Given the description of an element on the screen output the (x, y) to click on. 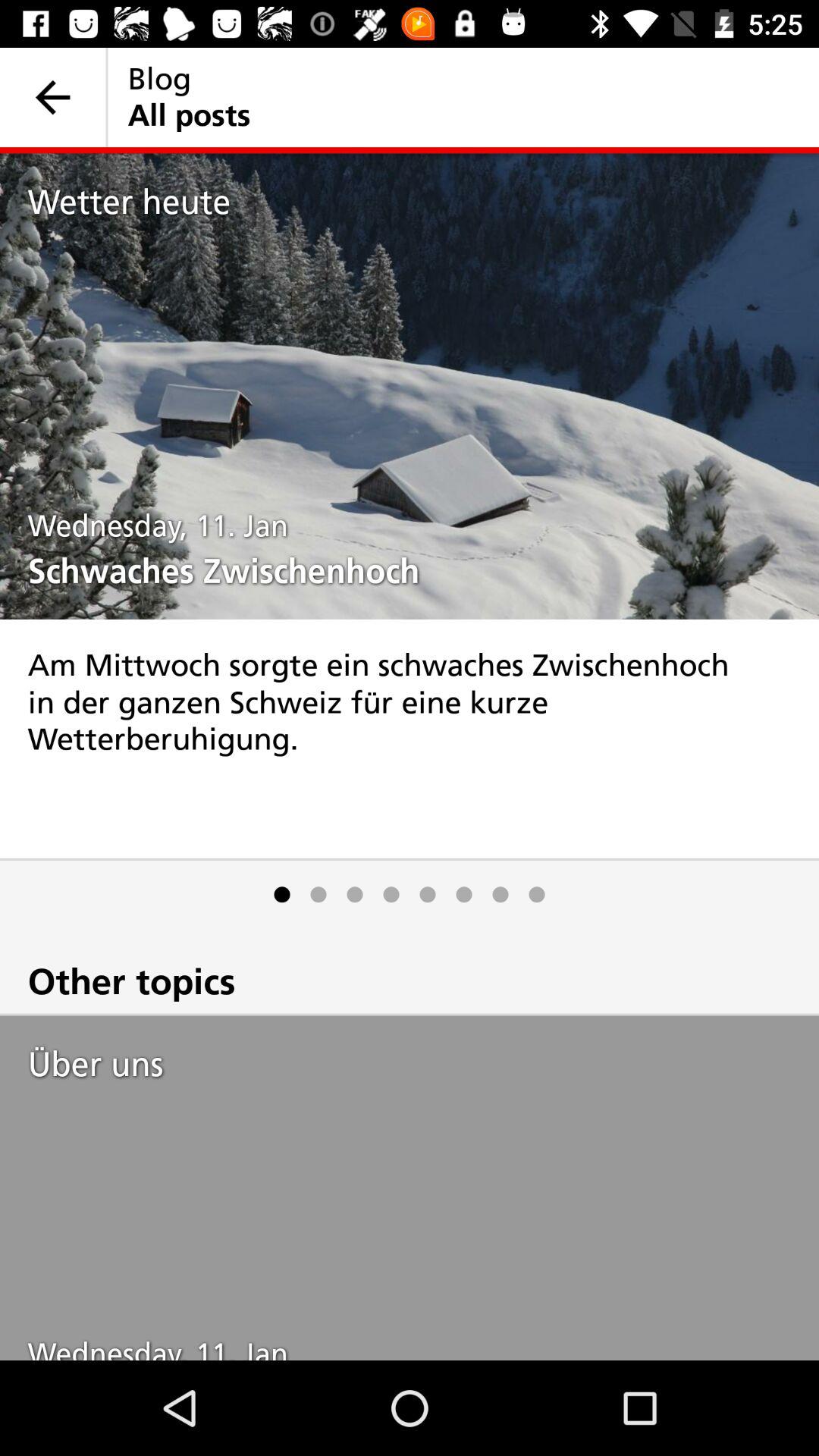
press the item below the other topics icon (423, 1063)
